Given the description of an element on the screen output the (x, y) to click on. 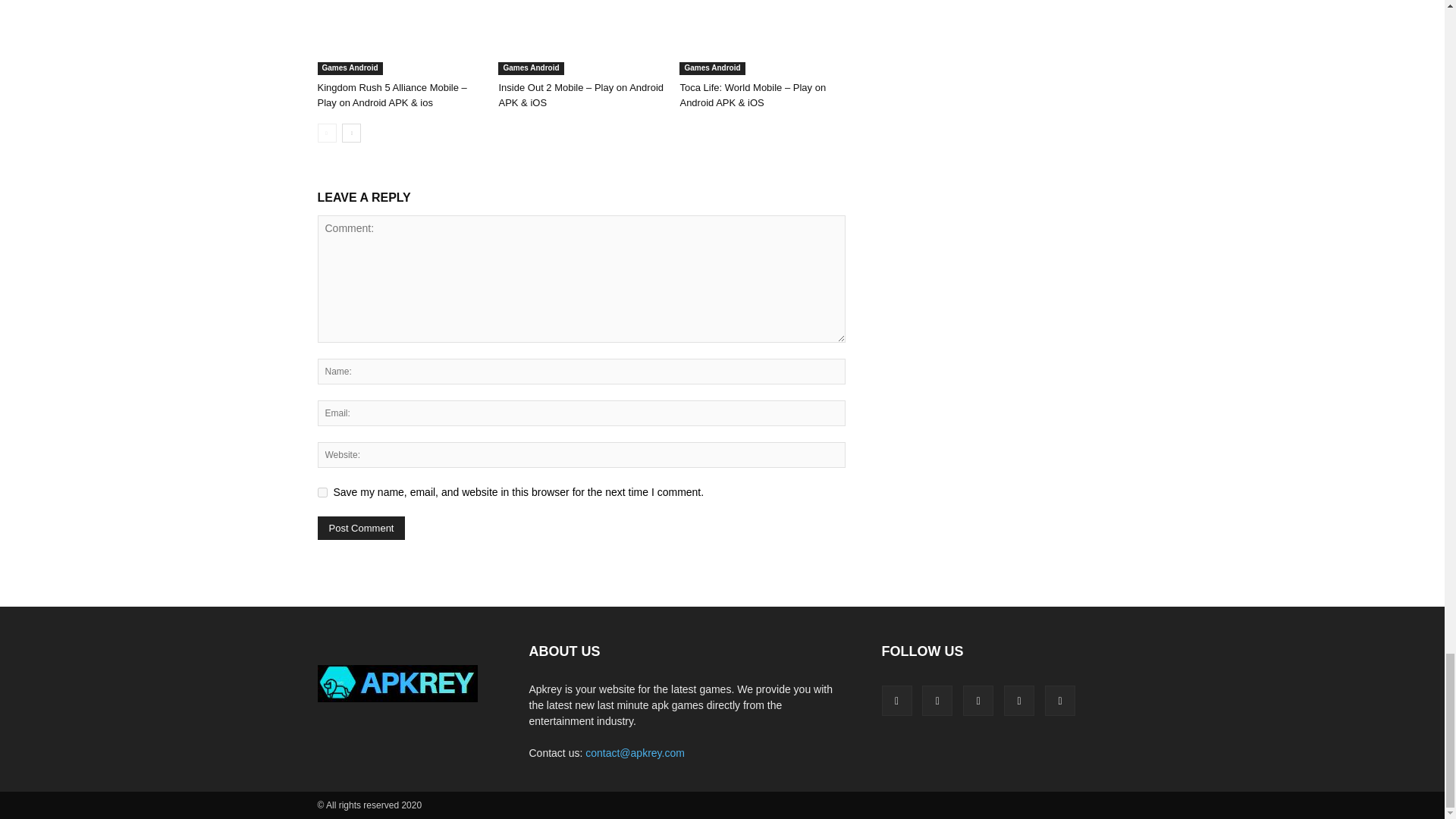
yes (321, 492)
Post Comment (360, 527)
